Given the description of an element on the screen output the (x, y) to click on. 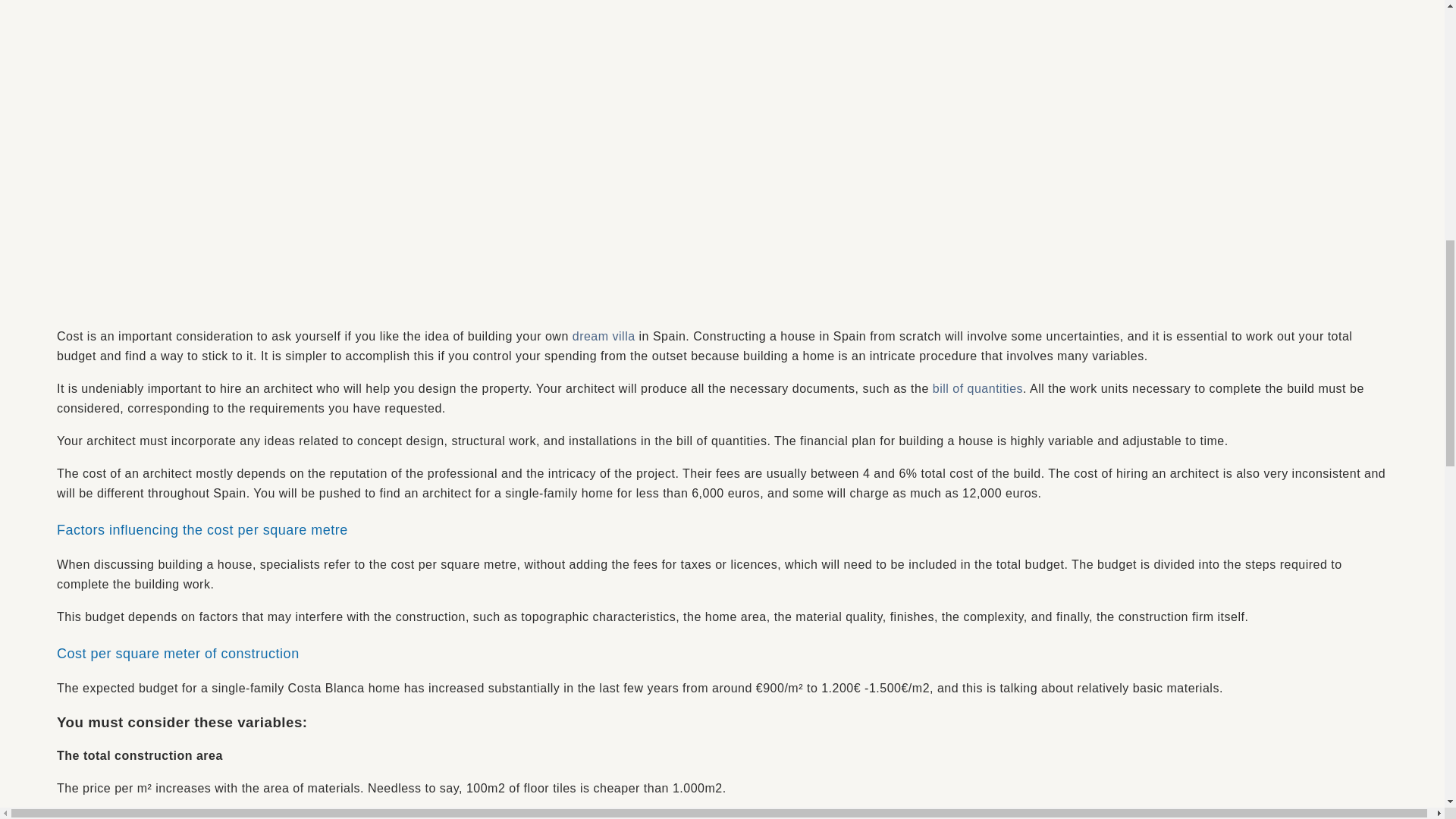
dream villa (603, 336)
bill of quantities (978, 388)
